Given the description of an element on the screen output the (x, y) to click on. 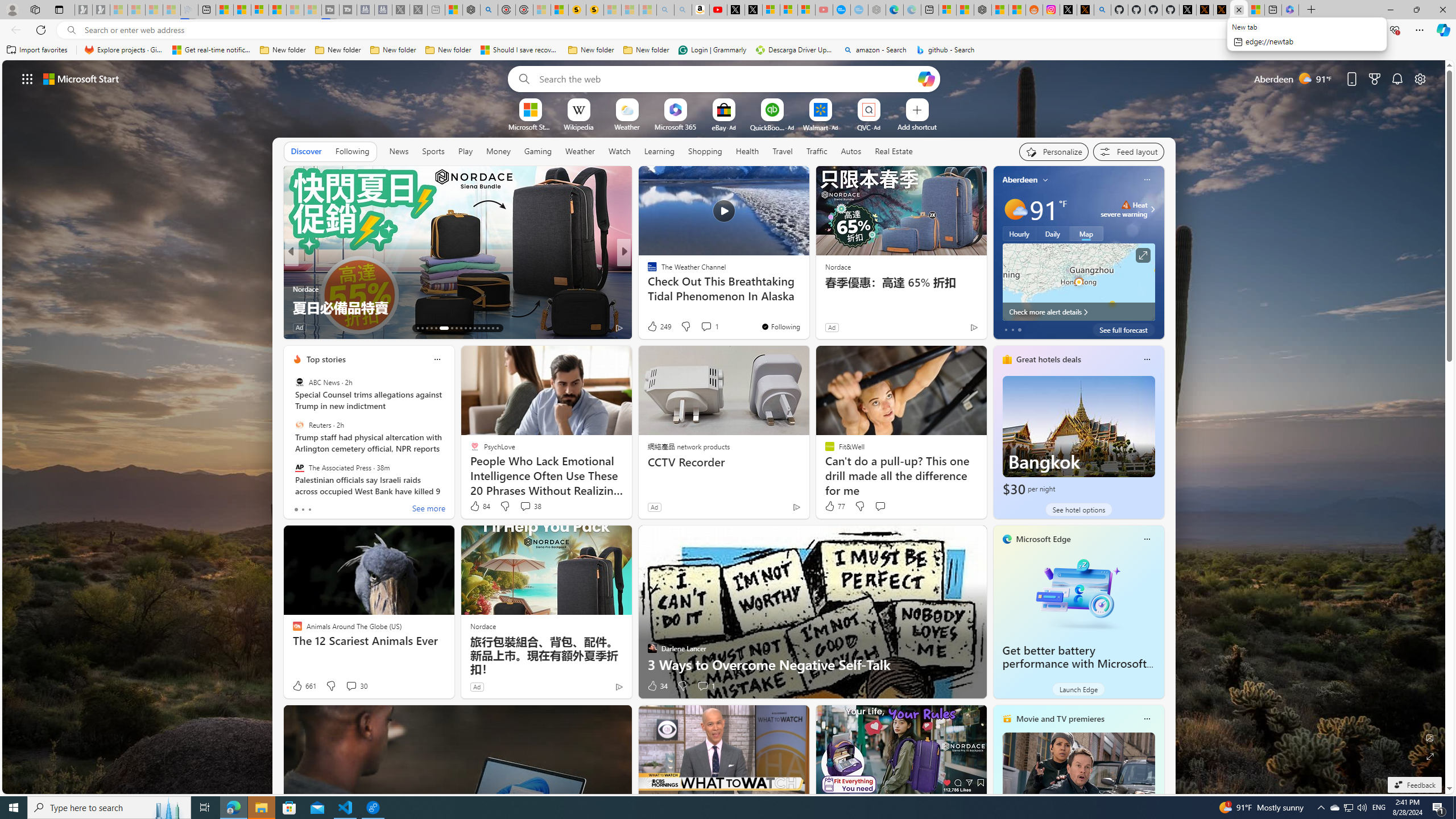
Play (465, 151)
AutomationID: tab-18 (440, 328)
Nordace - Duffels (982, 9)
Microsoft Edge (1043, 538)
Shanghai, China Weather trends | Microsoft Weather (1016, 9)
The Associated Press (299, 466)
Wildlife - MSN (453, 9)
See more (271, 179)
My location (1045, 179)
3 Like (651, 327)
